Given the description of an element on the screen output the (x, y) to click on. 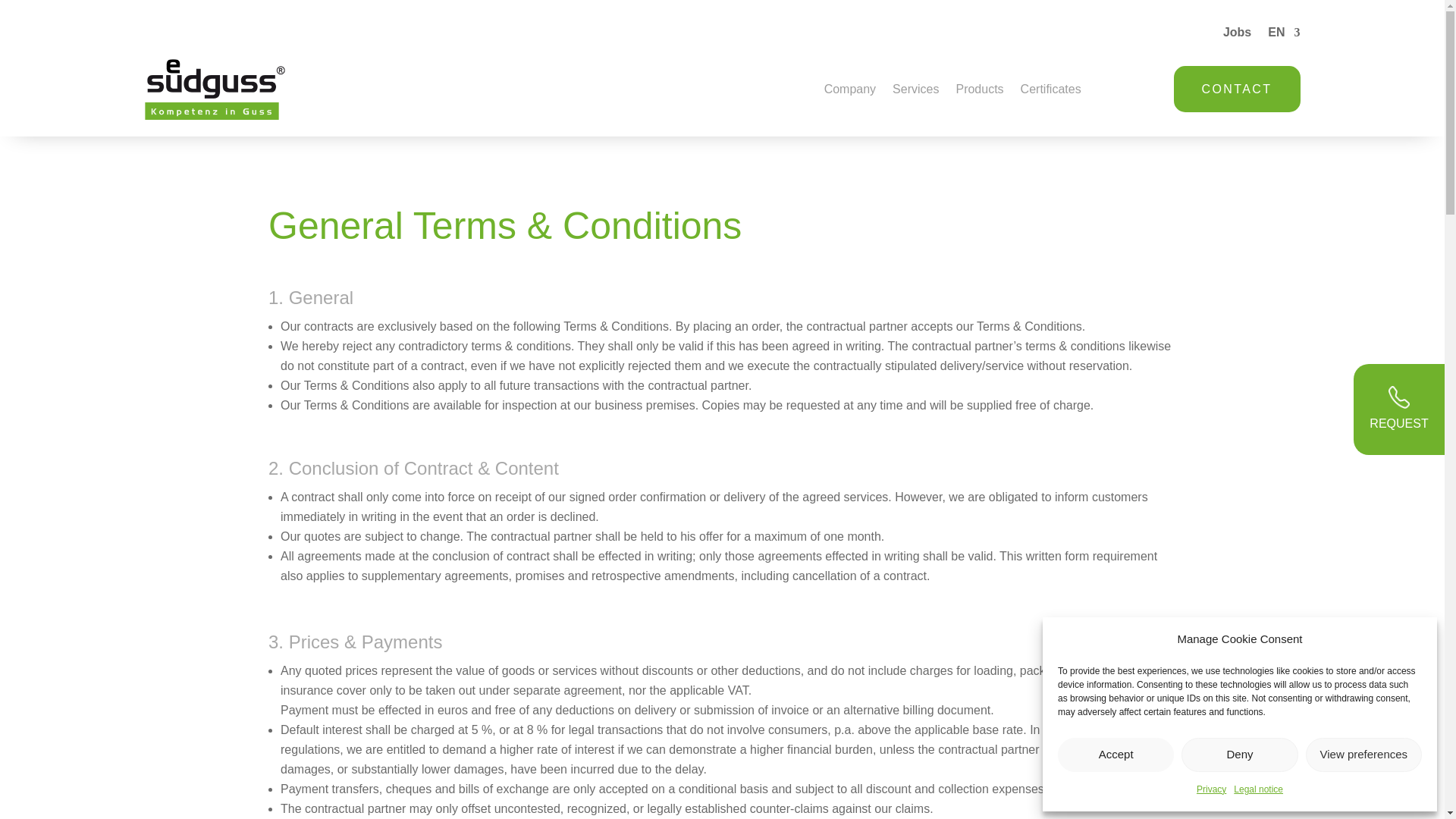
View preferences (1364, 754)
Certificates (1050, 91)
logo (214, 88)
Services (915, 91)
CONTACT (1236, 89)
Deny (1238, 754)
Company (850, 91)
Privacy (1210, 789)
Jobs (1236, 35)
Products (979, 91)
